Given the description of an element on the screen output the (x, y) to click on. 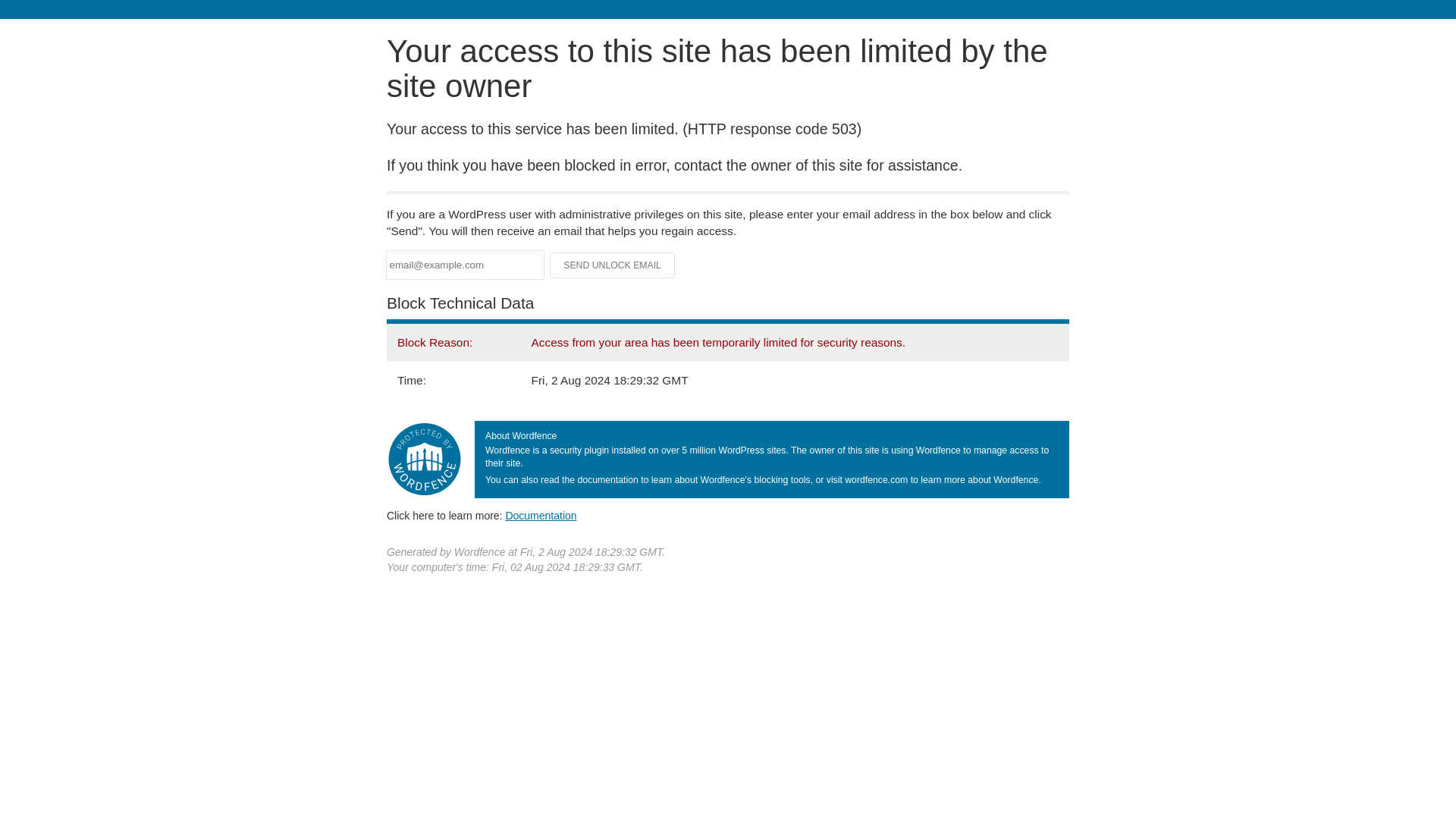
Send Unlock Email (612, 265)
Send Unlock Email (612, 265)
Documentation (540, 515)
